Given the description of an element on the screen output the (x, y) to click on. 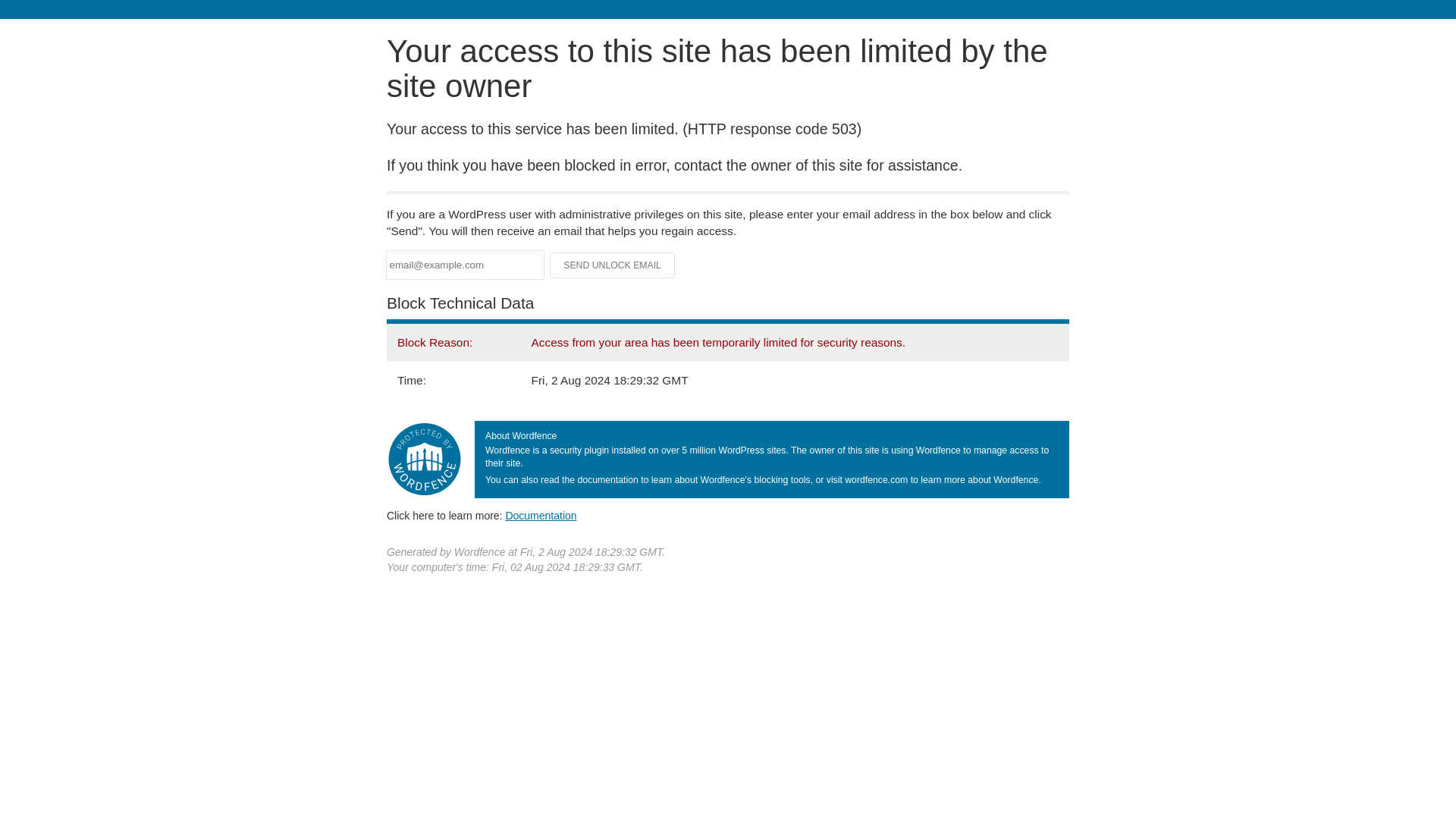
Send Unlock Email (612, 265)
Send Unlock Email (612, 265)
Documentation (540, 515)
